Given the description of an element on the screen output the (x, y) to click on. 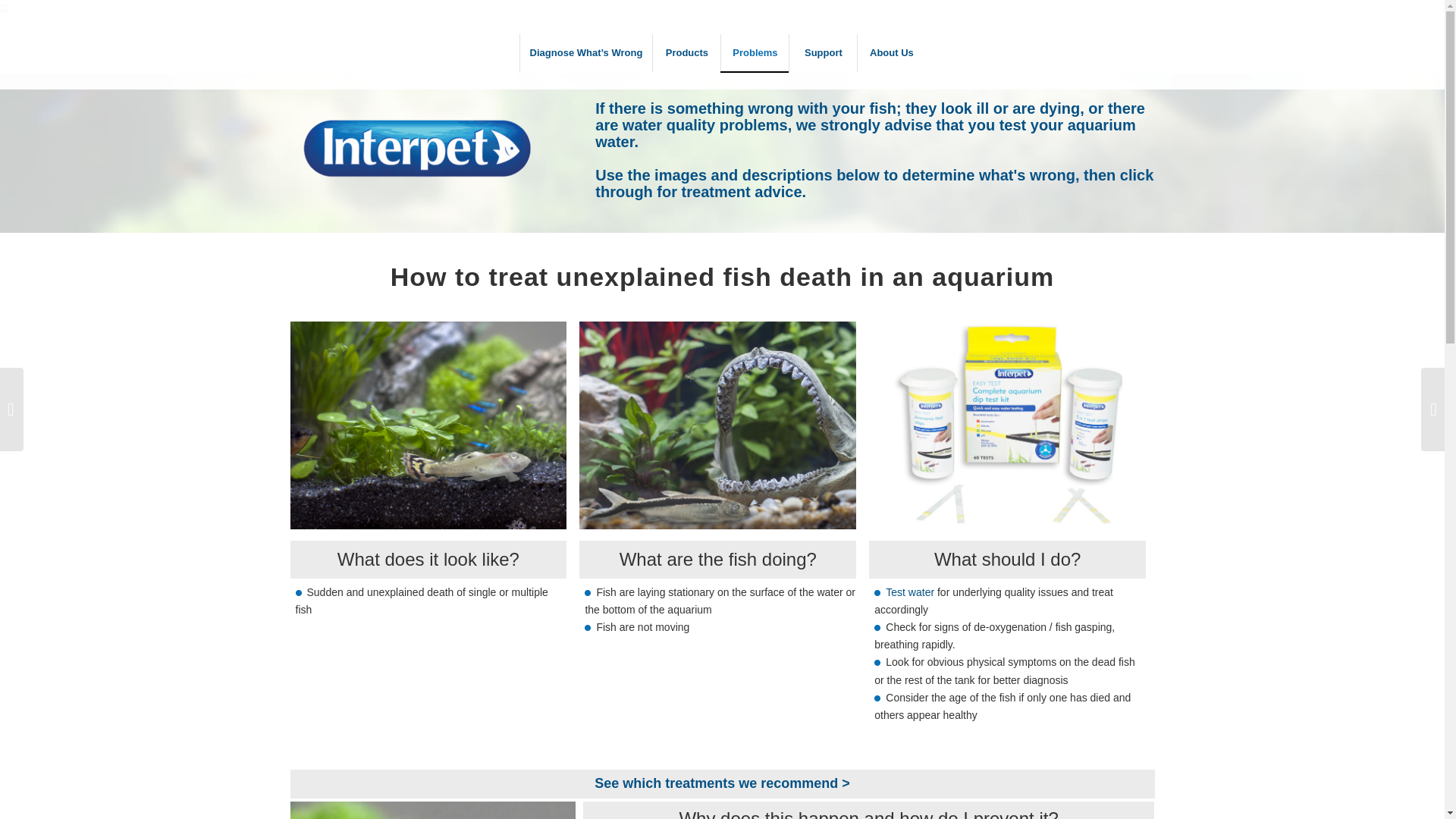
Problems (754, 53)
Products (427, 425)
Logo (686, 53)
Dead Guppy on the aquarium floor (416, 147)
